Given the description of an element on the screen output the (x, y) to click on. 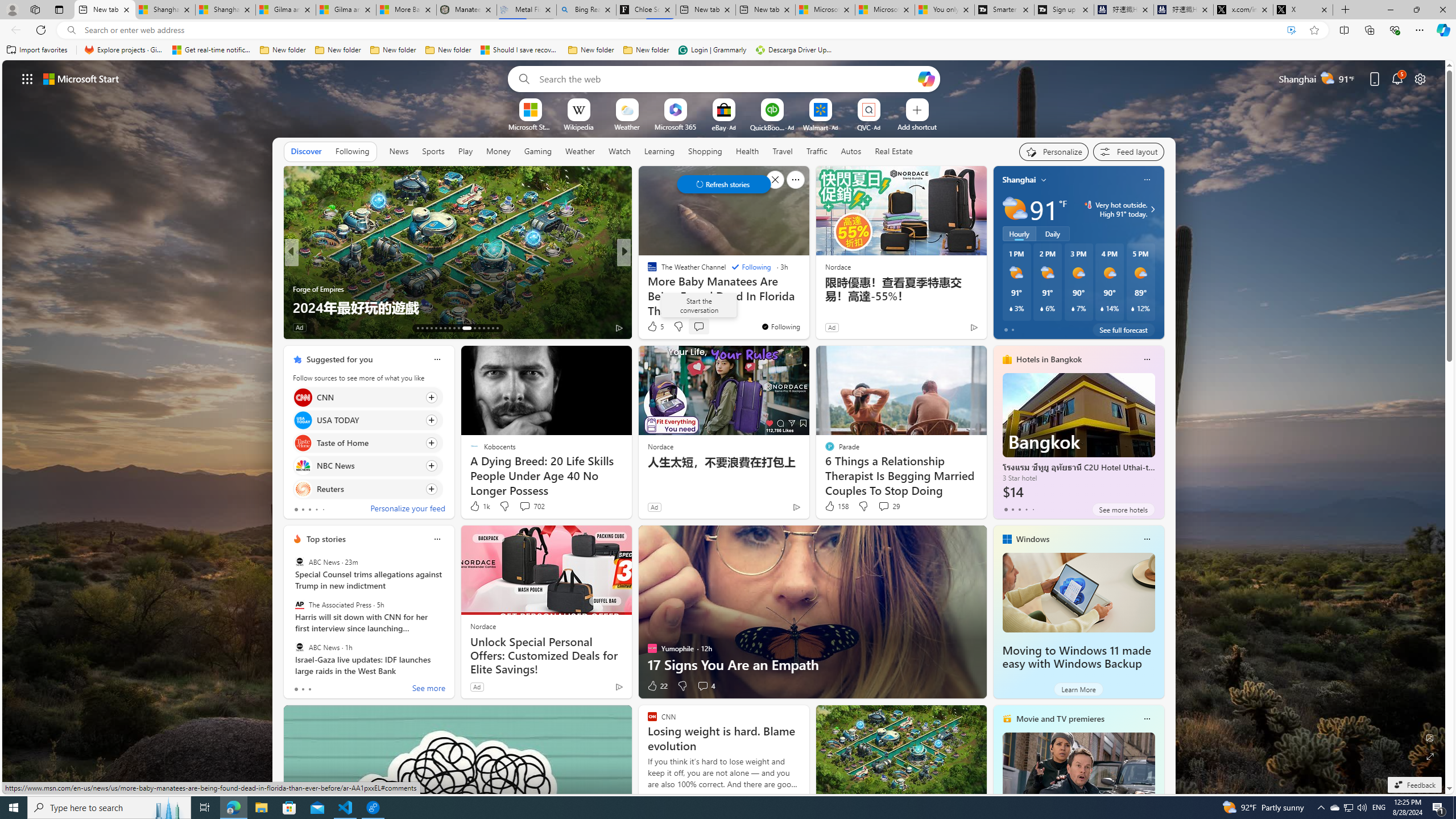
Edit Background (1430, 737)
Money (497, 151)
tab-2 (309, 689)
22 Like (657, 685)
View comments 29 Comment (888, 505)
Learn More (1078, 689)
AutomationID: tab-40 (488, 328)
Click to follow source NBC News (367, 465)
View comments 42 Comment (6, 327)
Sports (432, 151)
To get missing image descriptions, open the context menu. (529, 109)
